Given the description of an element on the screen output the (x, y) to click on. 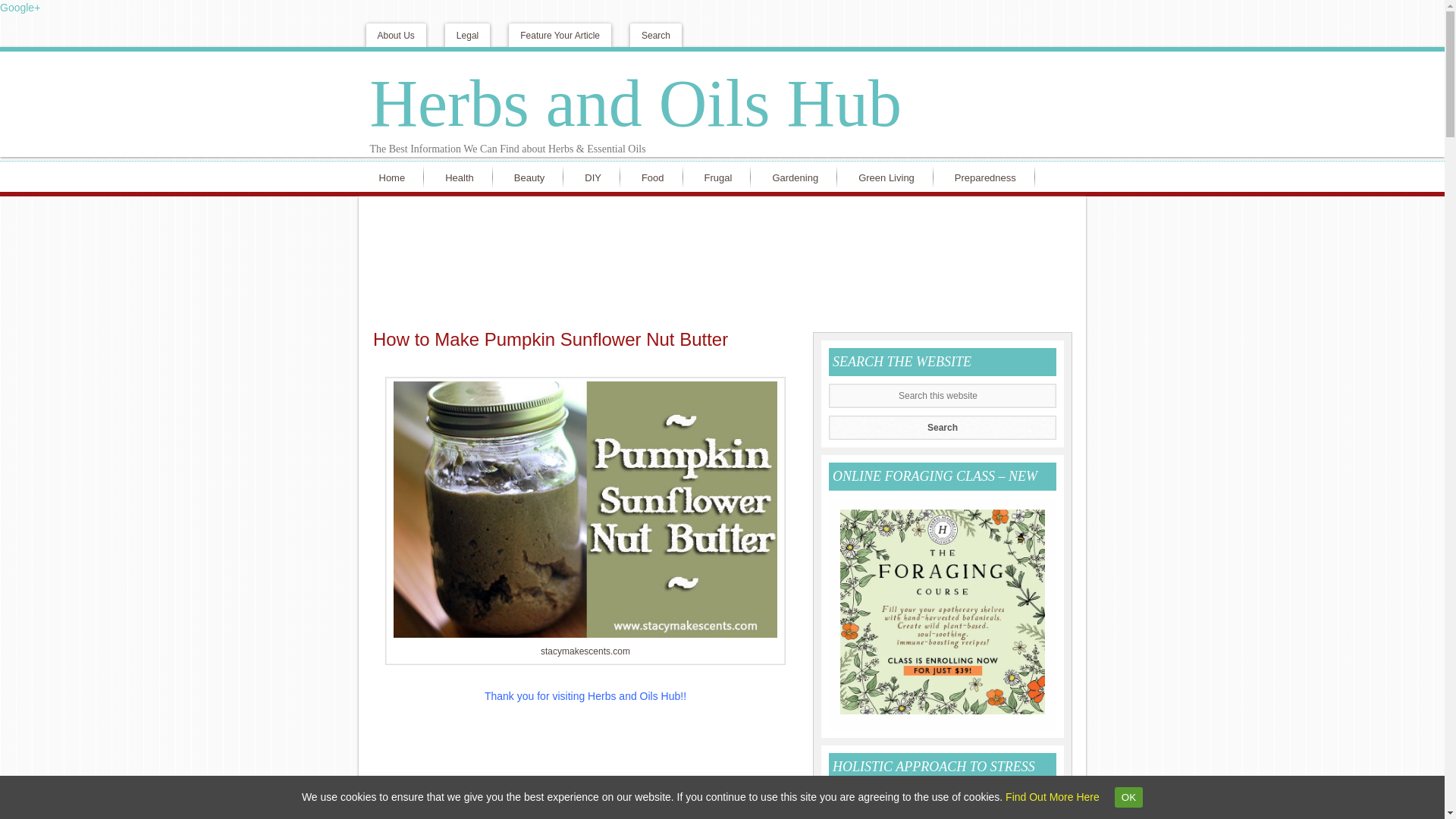
Search (942, 427)
Search (655, 34)
Green Living (889, 176)
Home (395, 176)
Food (656, 176)
Feature Your Article (559, 34)
Preparedness (988, 176)
Search (942, 427)
Advertisement (584, 765)
Gardening (798, 176)
